Given the description of an element on the screen output the (x, y) to click on. 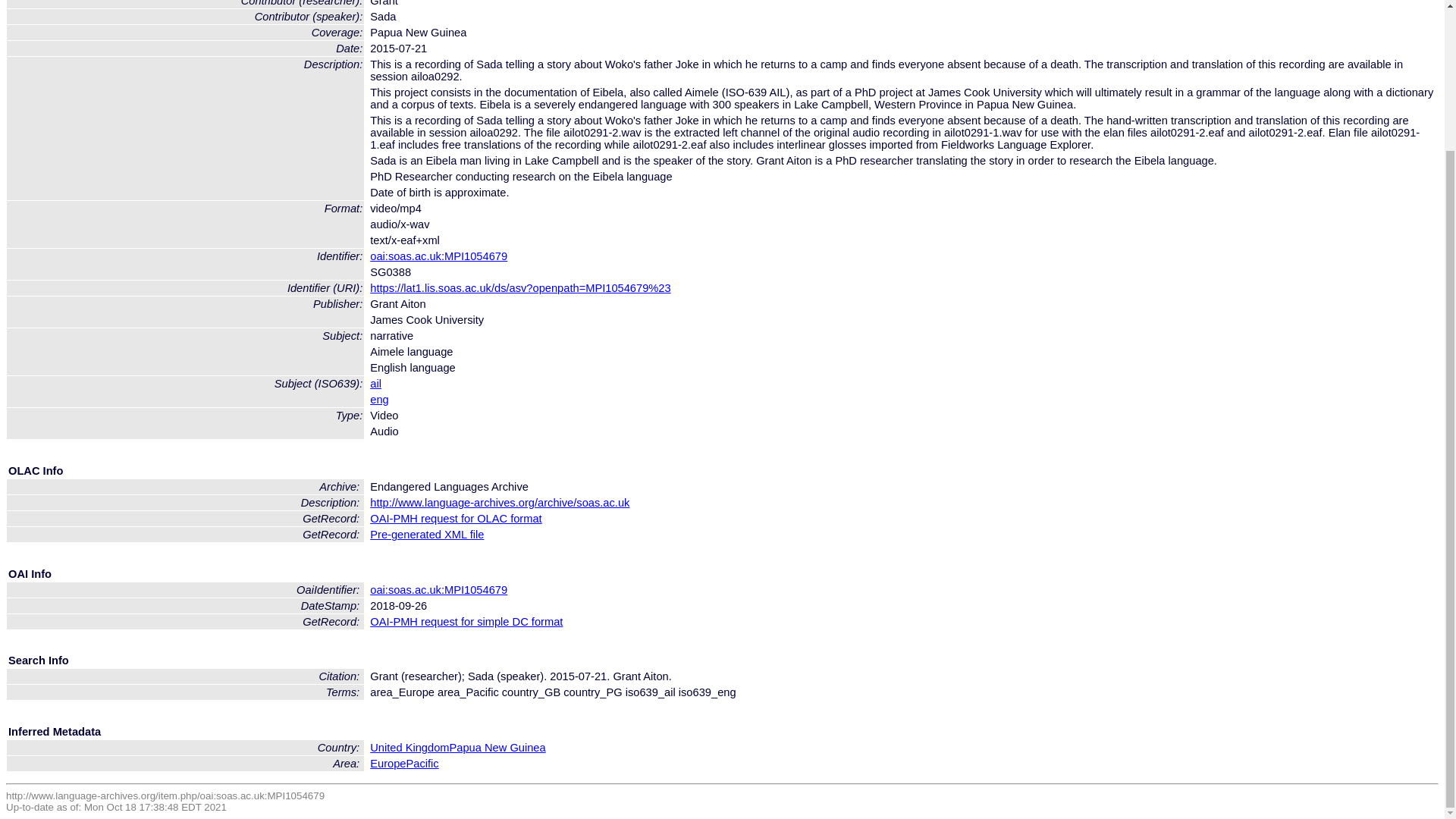
Papua New Guinea (497, 747)
Pre-generated XML file (426, 534)
United Kingdom (408, 747)
ail (375, 383)
oai:soas.ac.uk:MPI1054679 (437, 256)
OAI-PMH request for simple DC format (465, 621)
Europe (387, 763)
eng (378, 399)
oai:soas.ac.uk:MPI1054679 (437, 589)
Pacific (422, 763)
